Given the description of an element on the screen output the (x, y) to click on. 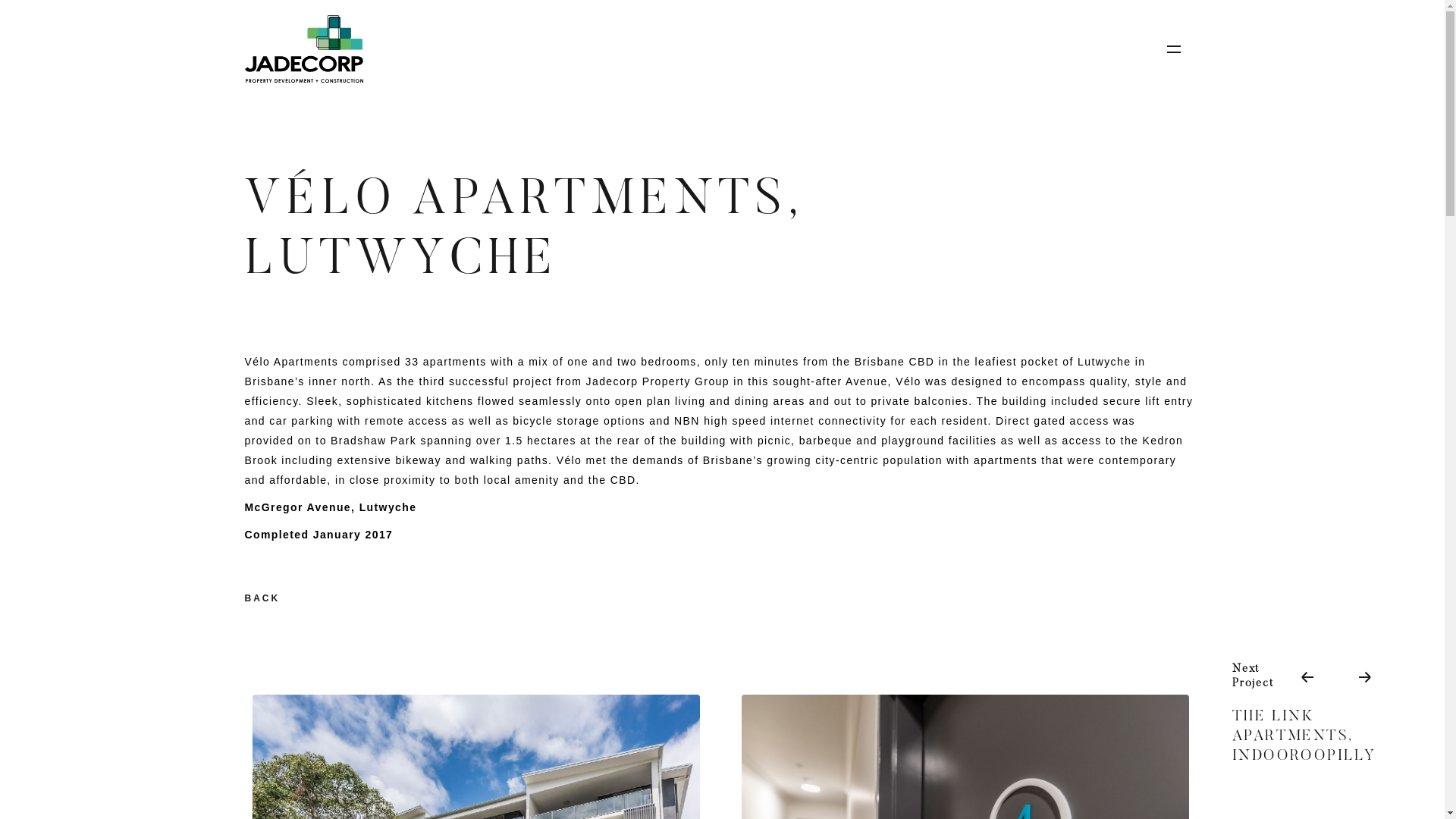
BACK Element type: text (261, 598)
THE LINK APARTMENTS, INDOOROOPILLY Element type: text (1311, 735)
